Given the description of an element on the screen output the (x, y) to click on. 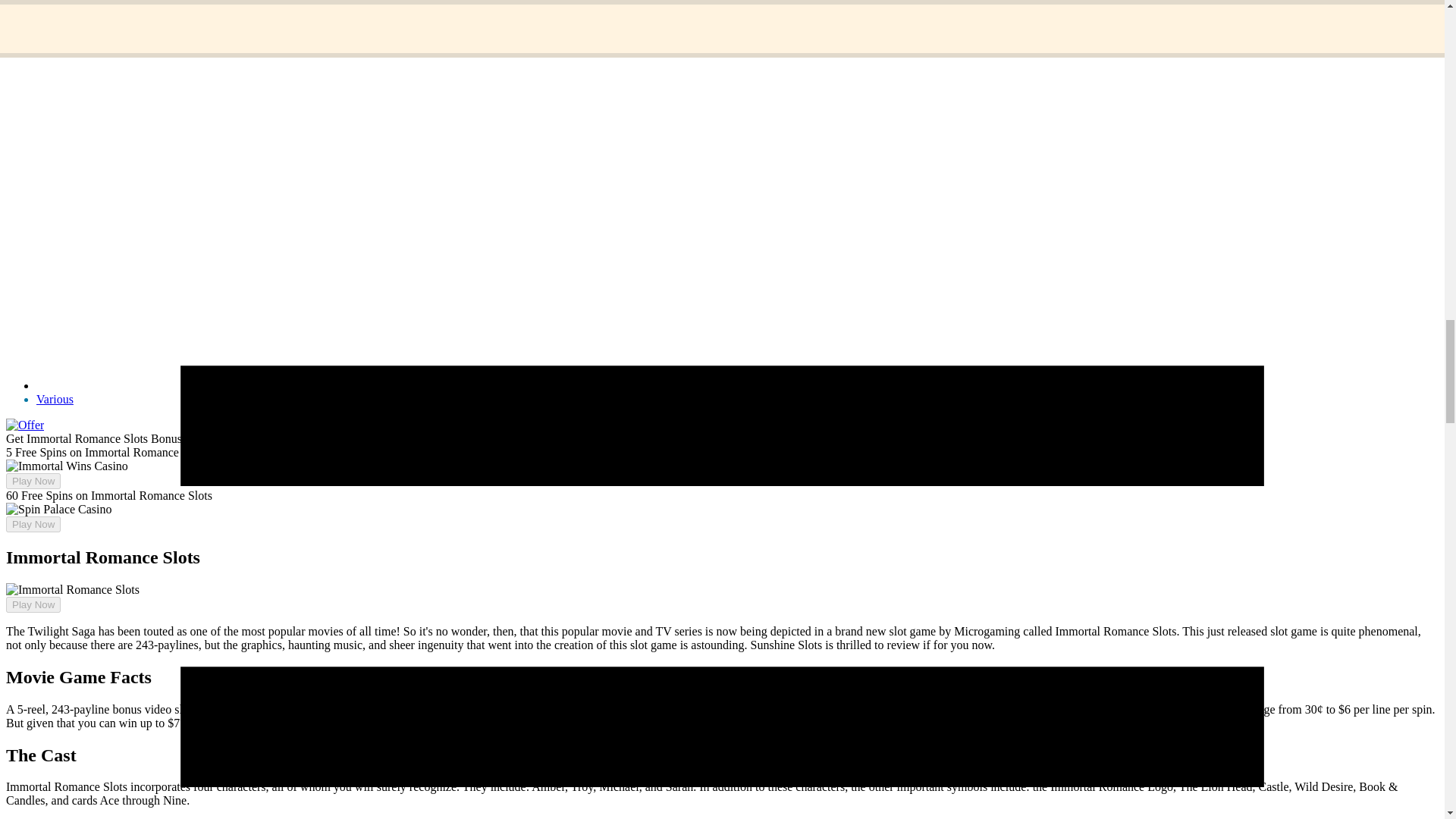
Play Now (33, 524)
Various (55, 399)
Play Now (33, 604)
Play Now (33, 480)
